Given the description of an element on the screen output the (x, y) to click on. 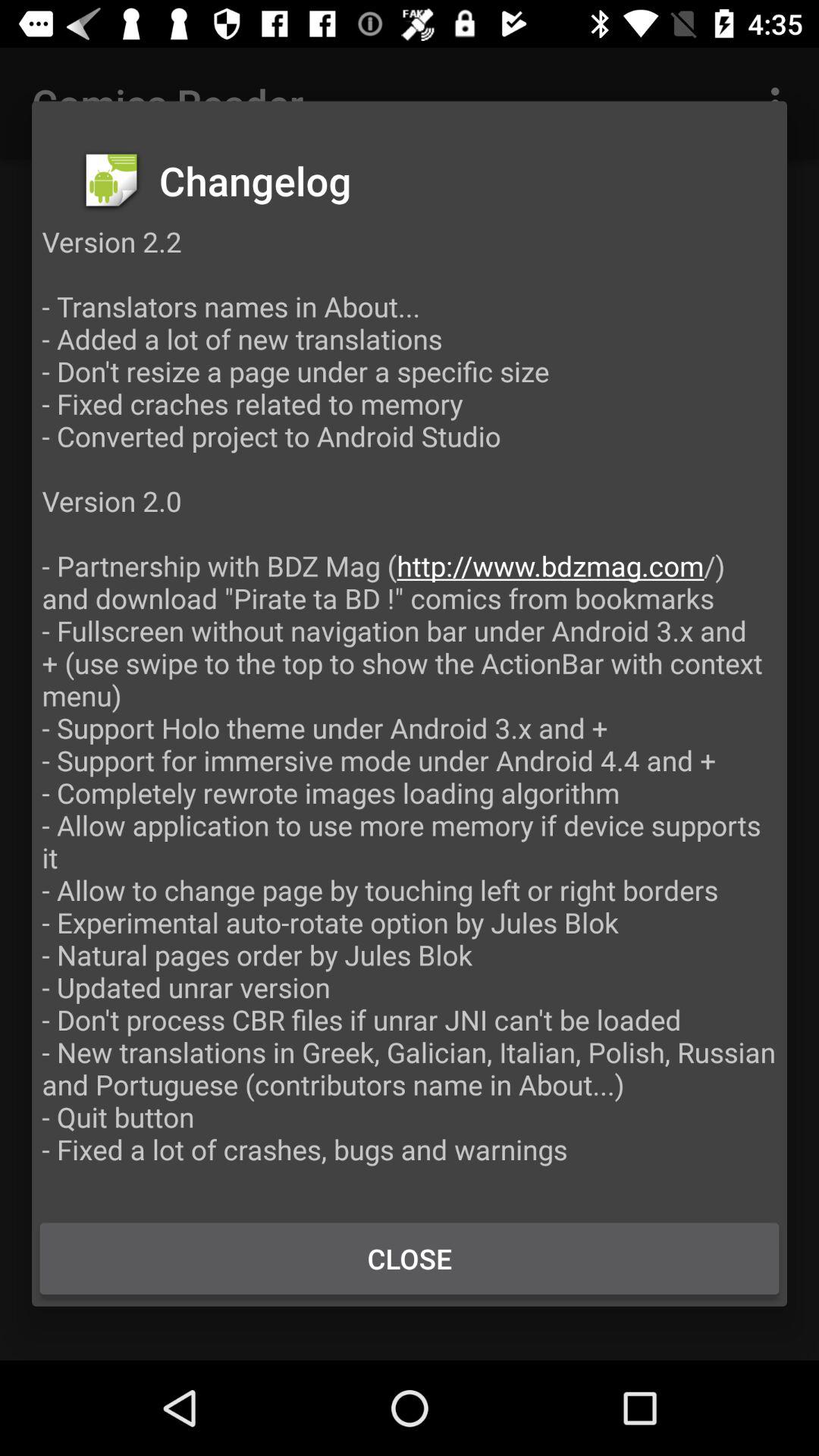
swipe to the close icon (409, 1258)
